Given the description of an element on the screen output the (x, y) to click on. 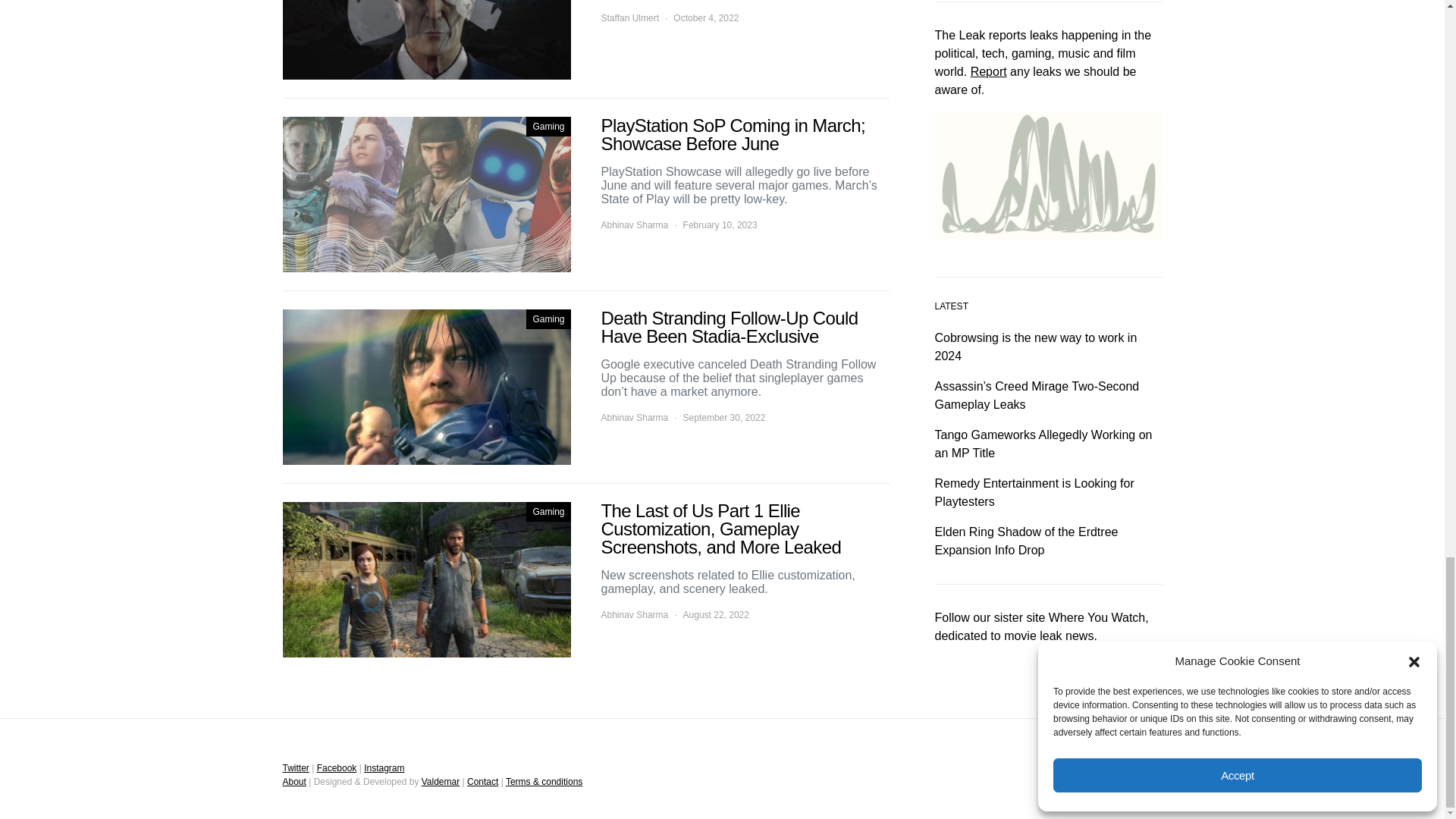
View all posts by Abhinav Sharma (633, 614)
View all posts by Staffan Ulmert (628, 18)
View all posts by Abhinav Sharma (633, 418)
View all posts by Abhinav Sharma (633, 224)
